Given the description of an element on the screen output the (x, y) to click on. 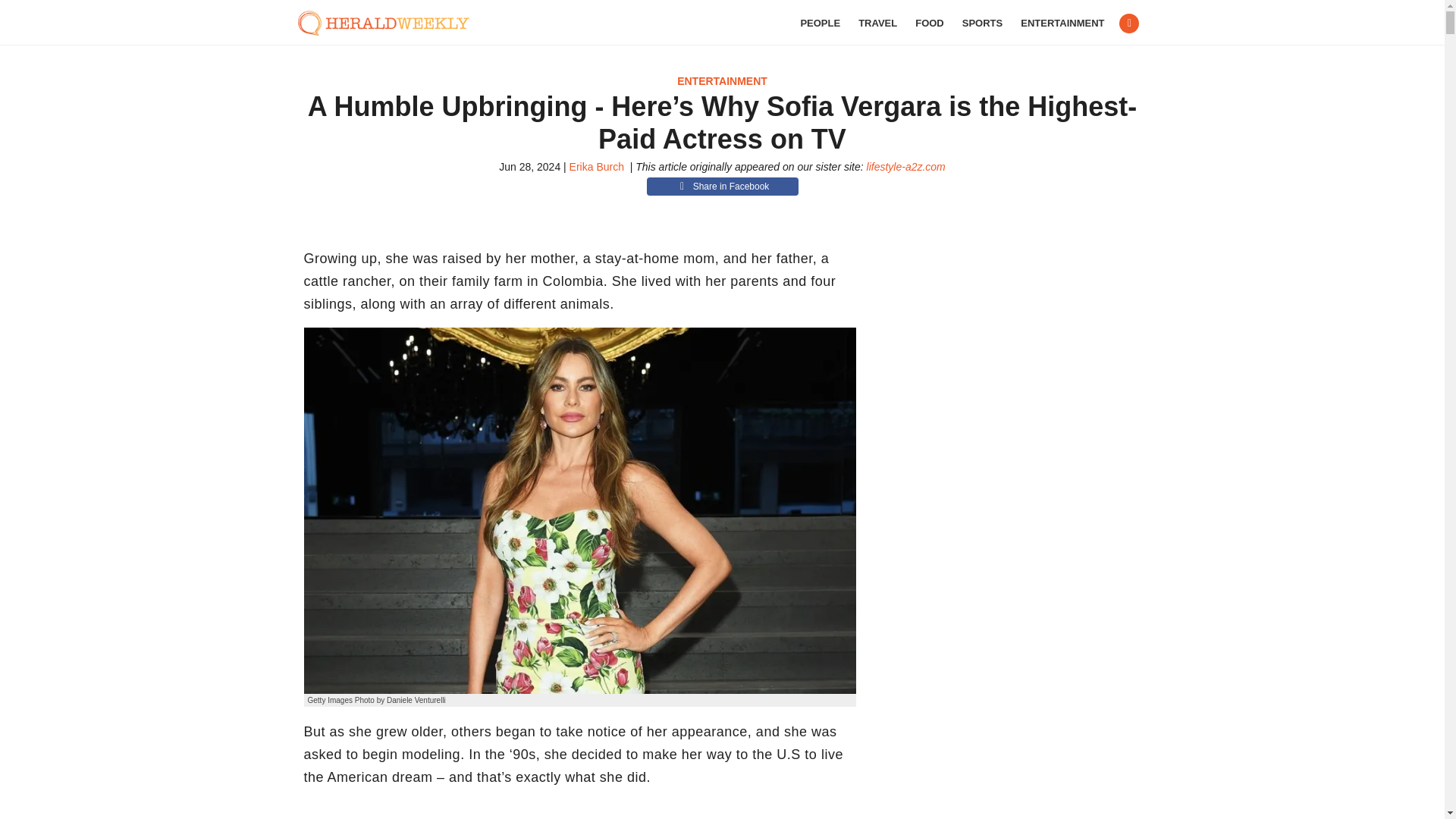
TRAVEL (877, 23)
Share in Facebook (721, 186)
ENTERTAINMENT (1061, 23)
lifestyle-a2z.com (905, 166)
ENTERTAINMENT (722, 80)
Herald Weekly (391, 22)
PEOPLE (819, 23)
Erika Burch (596, 166)
SPORTS (982, 23)
